Given the description of an element on the screen output the (x, y) to click on. 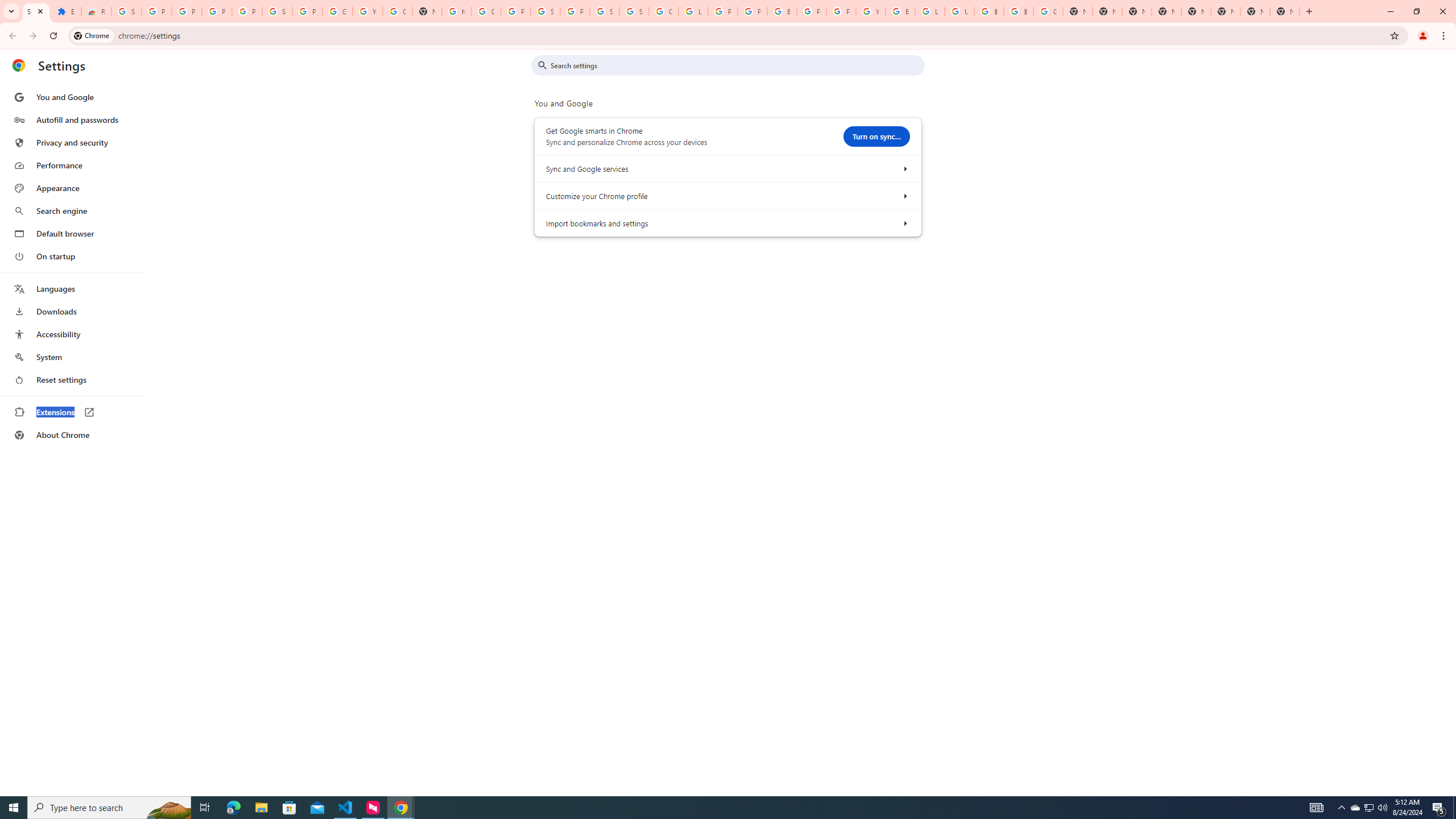
Sign in - Google Accounts (126, 11)
Downloads (70, 311)
Sign in - Google Accounts (633, 11)
Accessibility (70, 333)
